Given the description of an element on the screen output the (x, y) to click on. 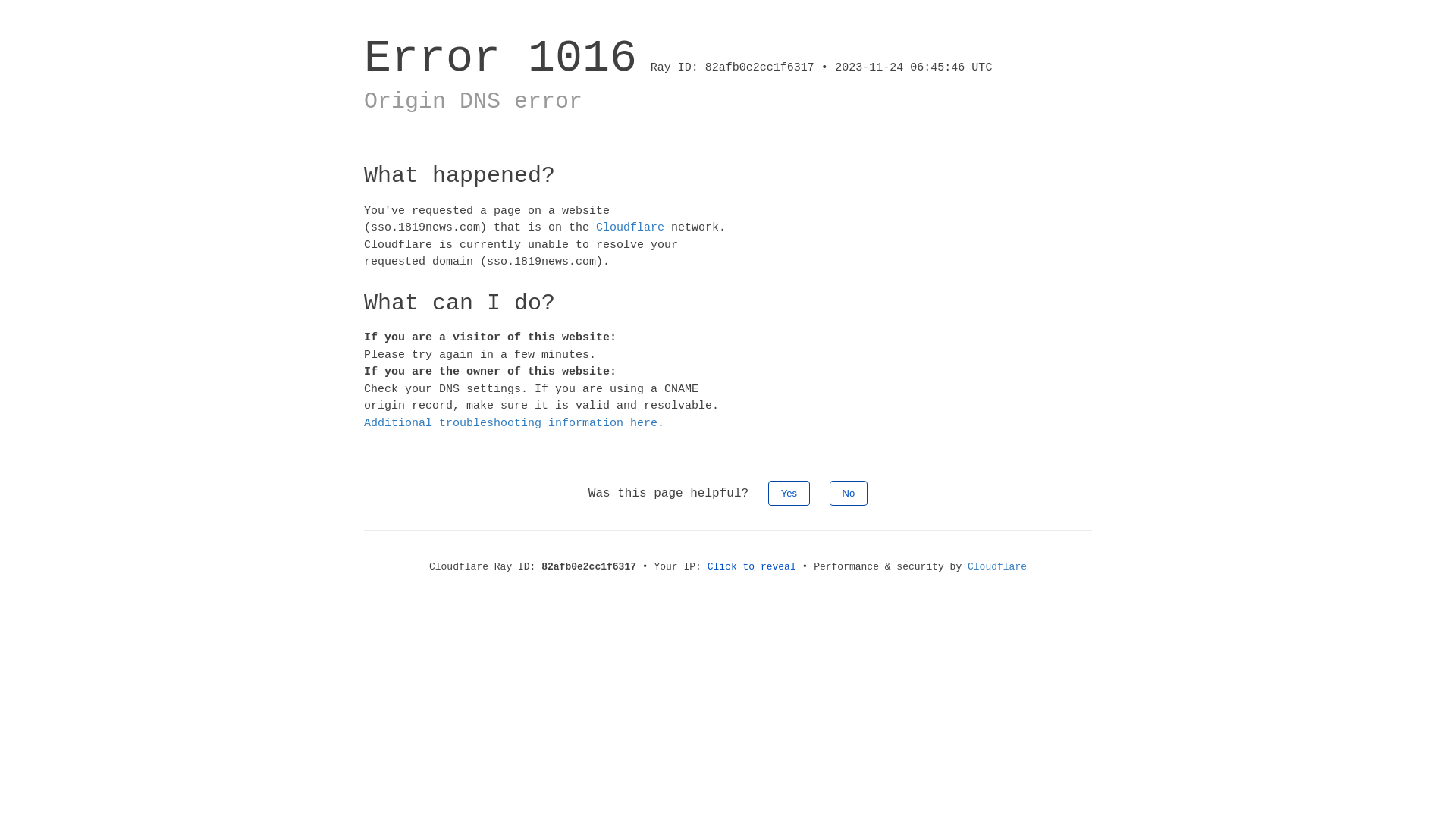
Yes Element type: text (788, 492)
Cloudflare Element type: text (996, 566)
No Element type: text (848, 492)
Cloudflare Element type: text (630, 227)
Additional troubleshooting information here. Element type: text (514, 423)
Click to reveal Element type: text (751, 566)
